Given the description of an element on the screen output the (x, y) to click on. 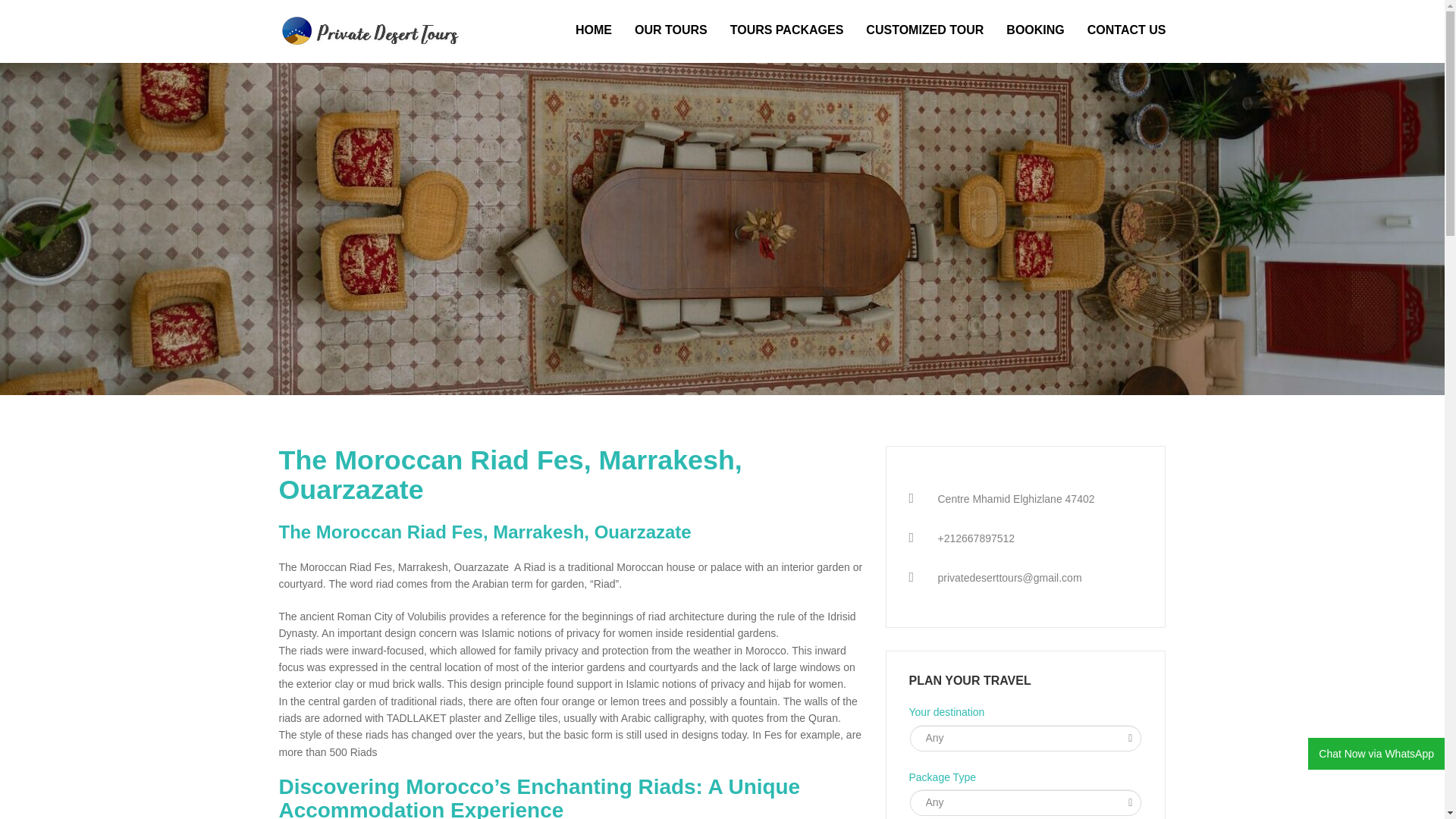
BOOKING (1034, 30)
CONTACT US (1120, 30)
TOURS PACKAGES (787, 30)
Private Morocco Tours Marrakech desert (593, 30)
CUSTOMIZED TOUR (924, 30)
HOME (593, 30)
OUR TOURS (671, 30)
